Given the description of an element on the screen output the (x, y) to click on. 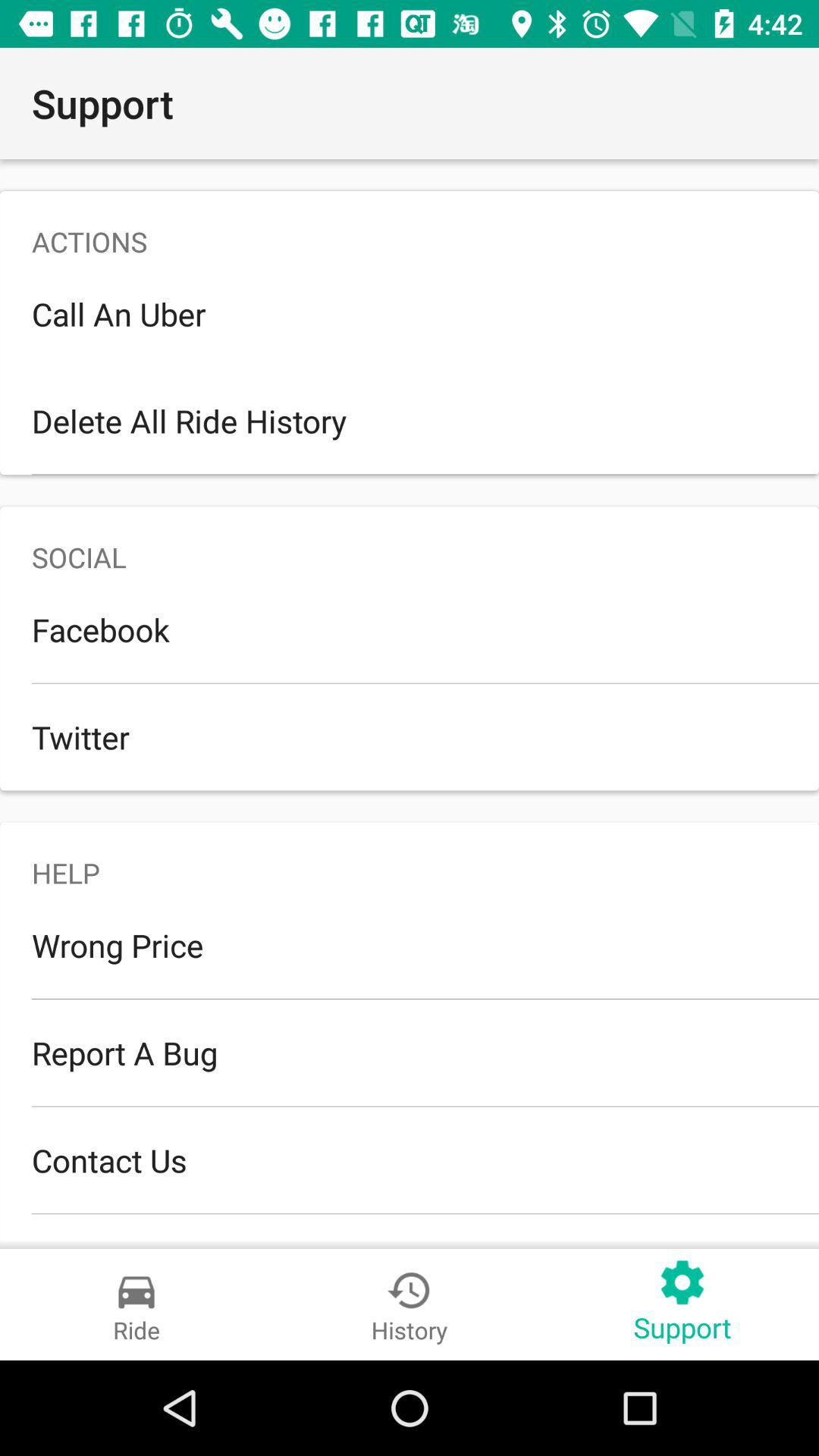
swipe until the twitter icon (409, 736)
